Given the description of an element on the screen output the (x, y) to click on. 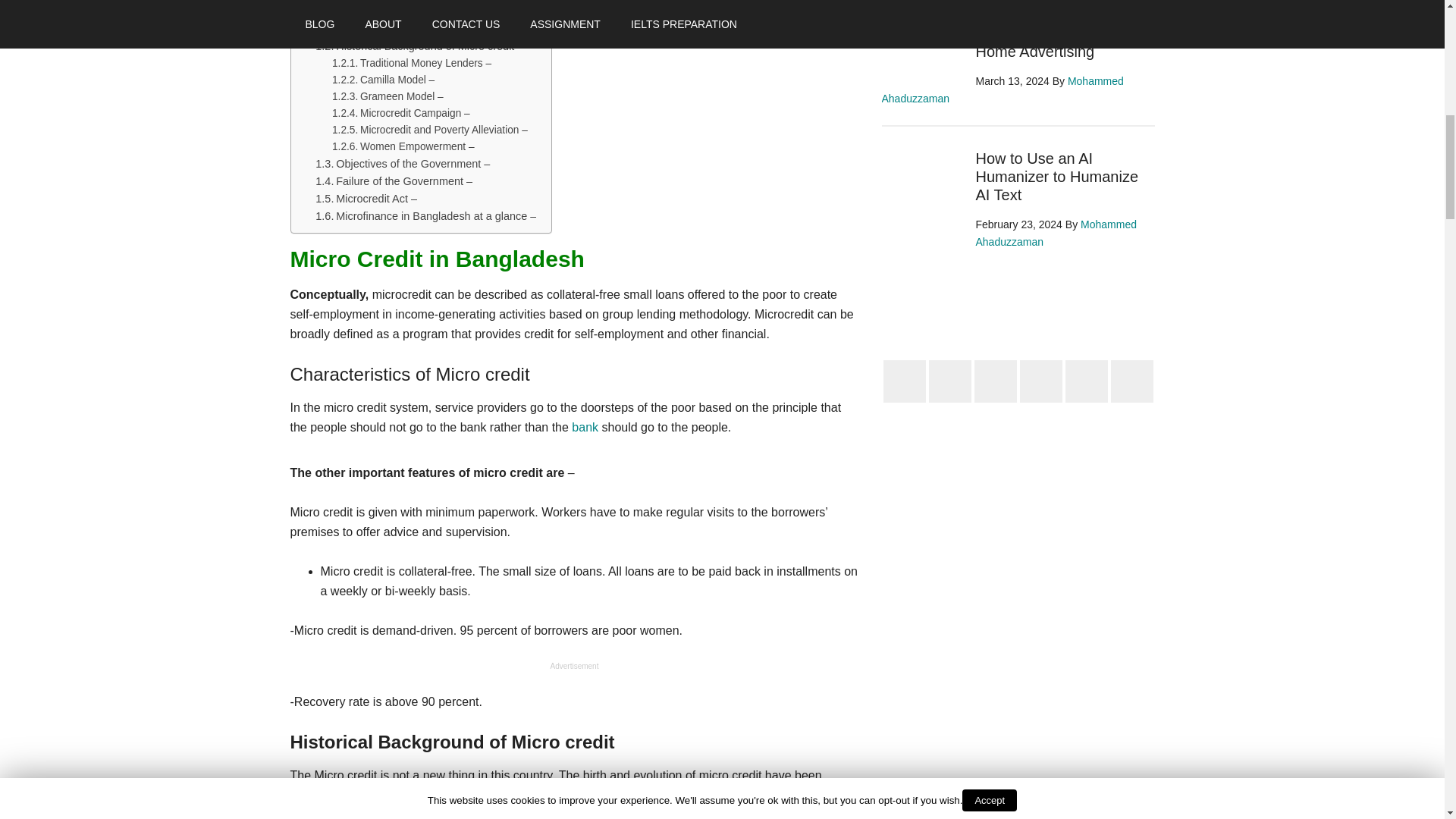
Historical Background of Micro credit (414, 46)
Characteristics of Micro credit (397, 28)
Micro Credit in Bangladesh (373, 10)
